Given the description of an element on the screen output the (x, y) to click on. 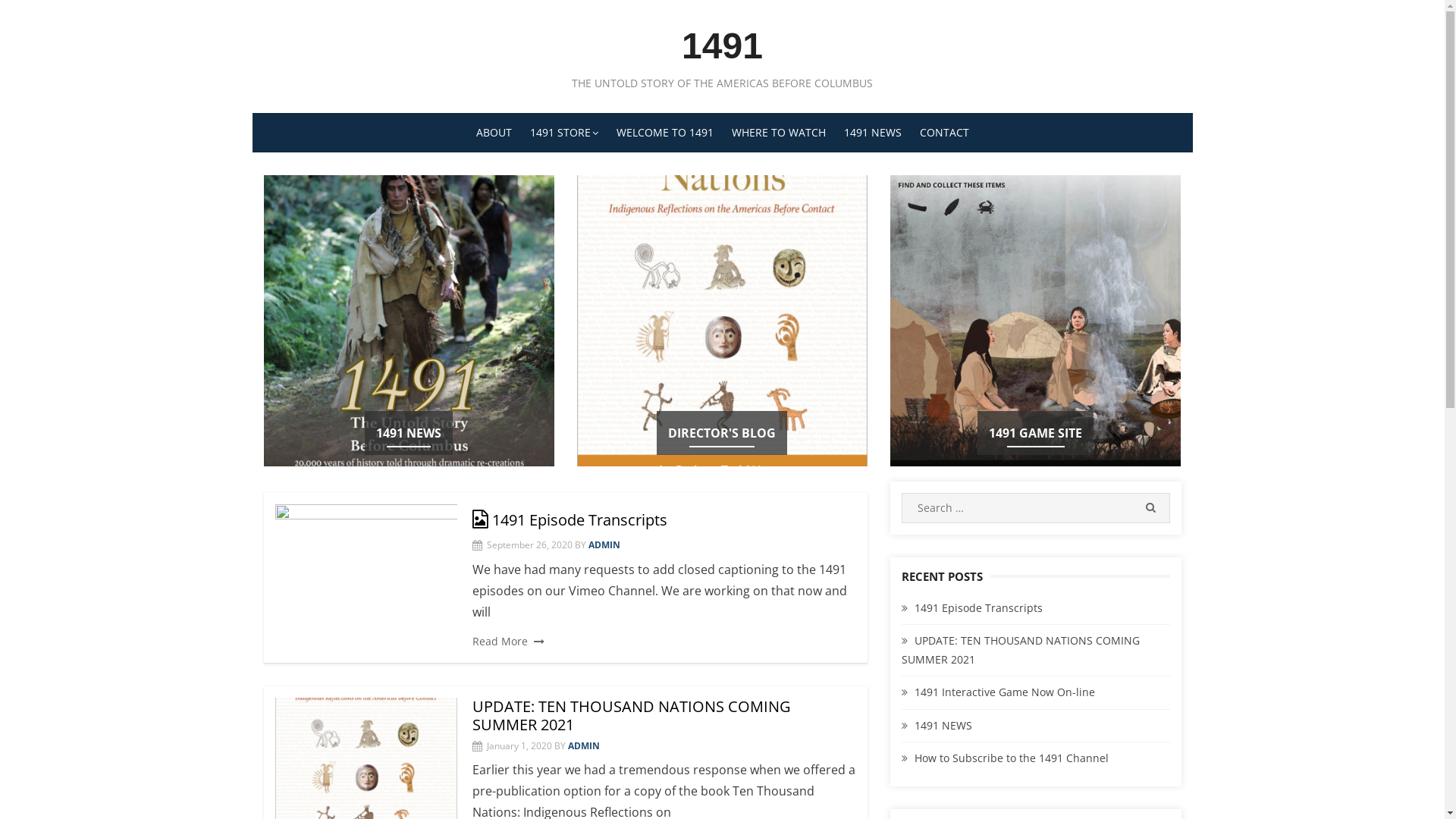
How to Subscribe to the 1491 Channel Element type: text (1011, 757)
1491 Interactive Game Now On-line Element type: text (1004, 691)
ADMIN Element type: text (583, 745)
ABOUT Element type: text (493, 132)
DIRECTOR'S BLOG Element type: text (721, 433)
1491 GAME SITE Element type: text (1035, 433)
1491 Episode Transcripts Element type: hover (365, 574)
UPDATE: TEN THOUSAND NATIONS COMING SUMMER 2021 Element type: text (630, 715)
1491 Episode Transcripts Element type: text (568, 519)
WHERE TO WATCH Element type: text (777, 132)
ADMIN Element type: text (604, 544)
1491 NEWS Element type: text (943, 725)
1491 NEWS Element type: text (408, 433)
SEARCH Element type: text (1150, 507)
1491 NEWS Element type: text (871, 132)
1491 Element type: text (721, 45)
1491 STORE Element type: text (563, 132)
WELCOME TO 1491 Element type: text (664, 132)
1491 Episode Transcripts Element type: text (978, 607)
UPDATE: TEN THOUSAND NATIONS COMING SUMMER 2021 Element type: text (1020, 649)
Skip to content Element type: text (251, 0)
CONTACT Element type: text (943, 132)
Read More Element type: text (507, 640)
